Given the description of an element on the screen output the (x, y) to click on. 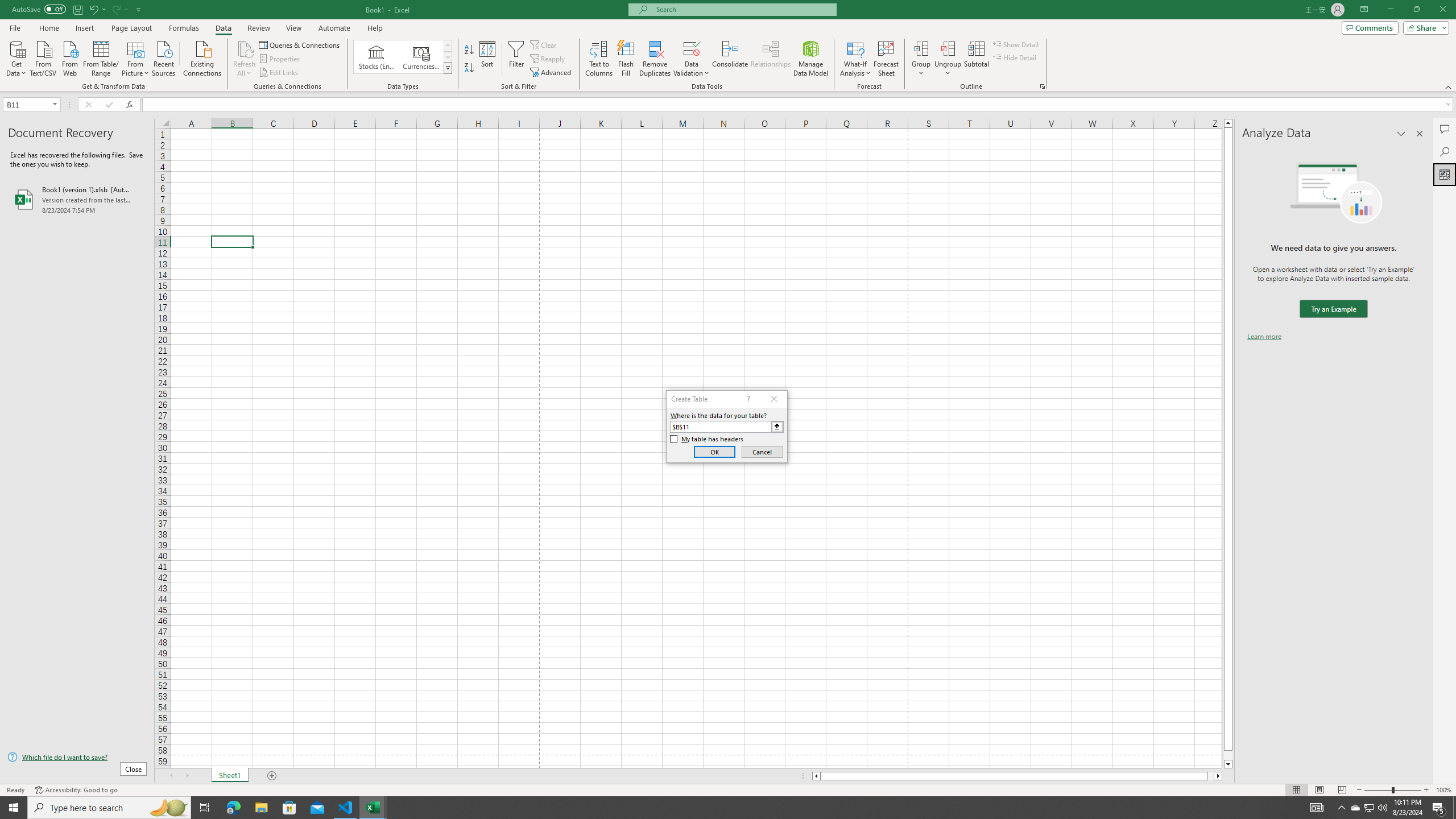
Formula Bar (799, 104)
Consolidate... (729, 58)
From Table/Range (100, 57)
Queries & Connections (300, 44)
Task Pane Options (1400, 133)
From Text/CSV (43, 57)
Show Detail (1016, 44)
